Given the description of an element on the screen output the (x, y) to click on. 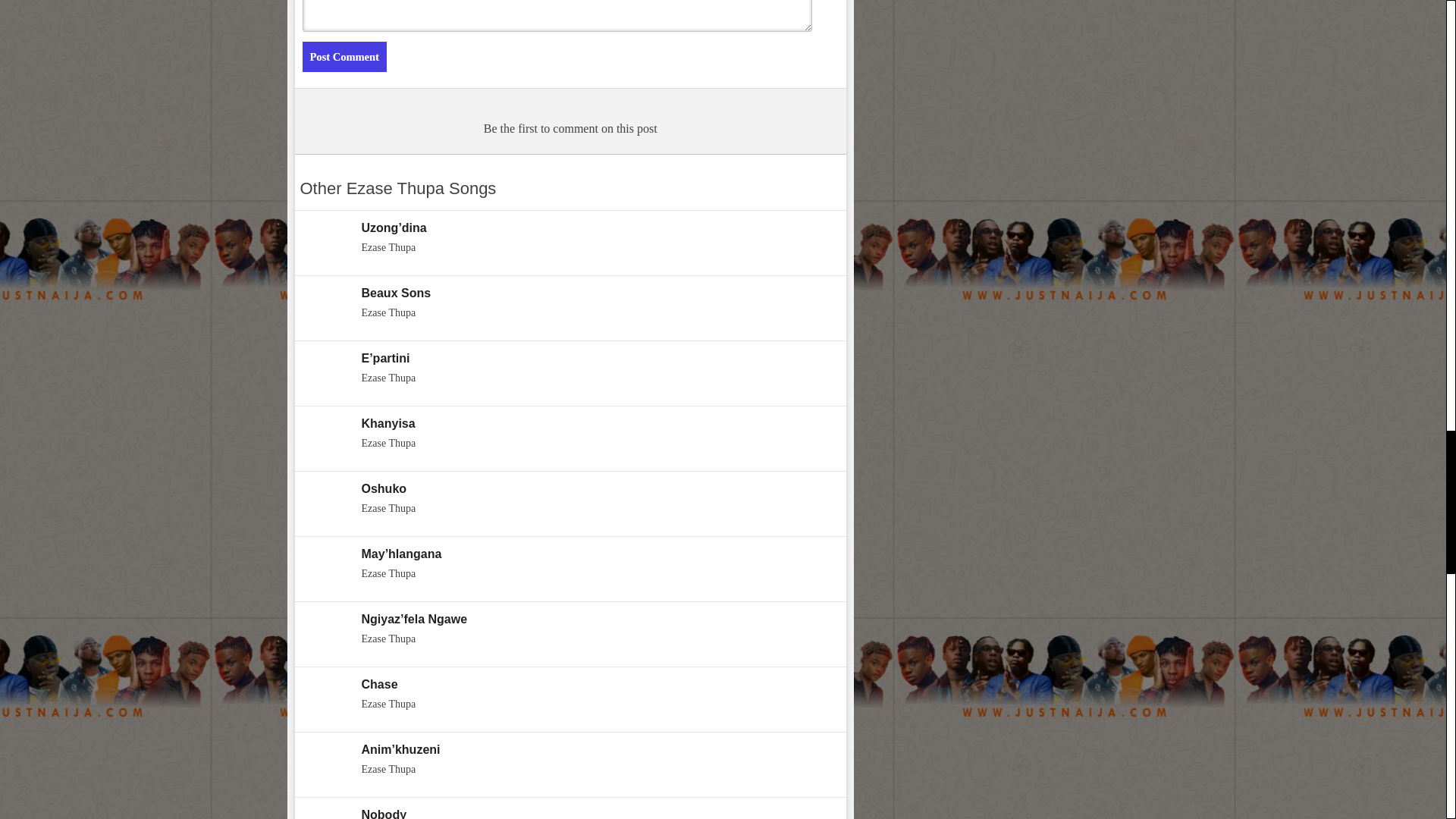
Post Comment (343, 56)
